Given the description of an element on the screen output the (x, y) to click on. 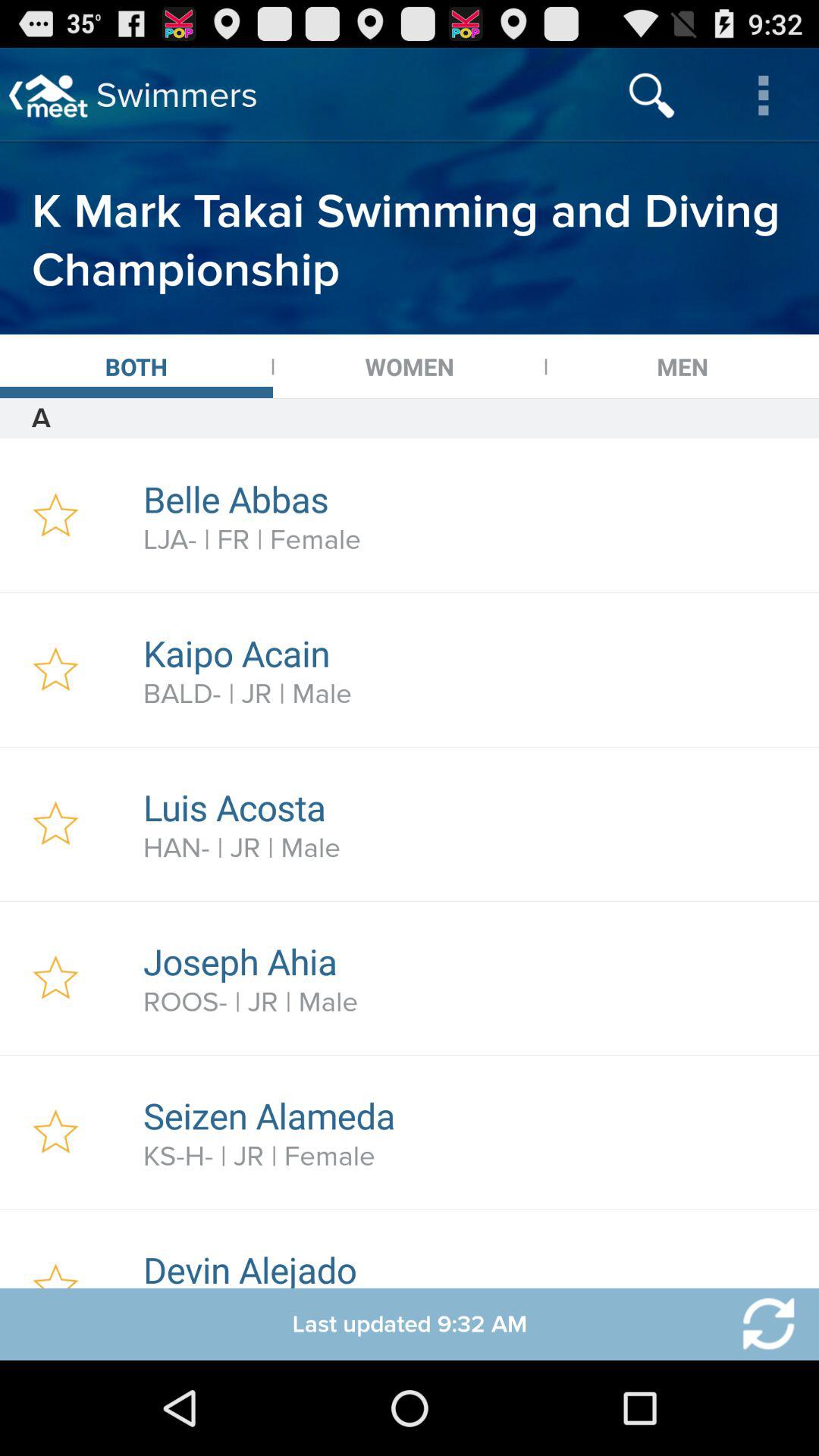
flag your favorite (55, 1132)
